Given the description of an element on the screen output the (x, y) to click on. 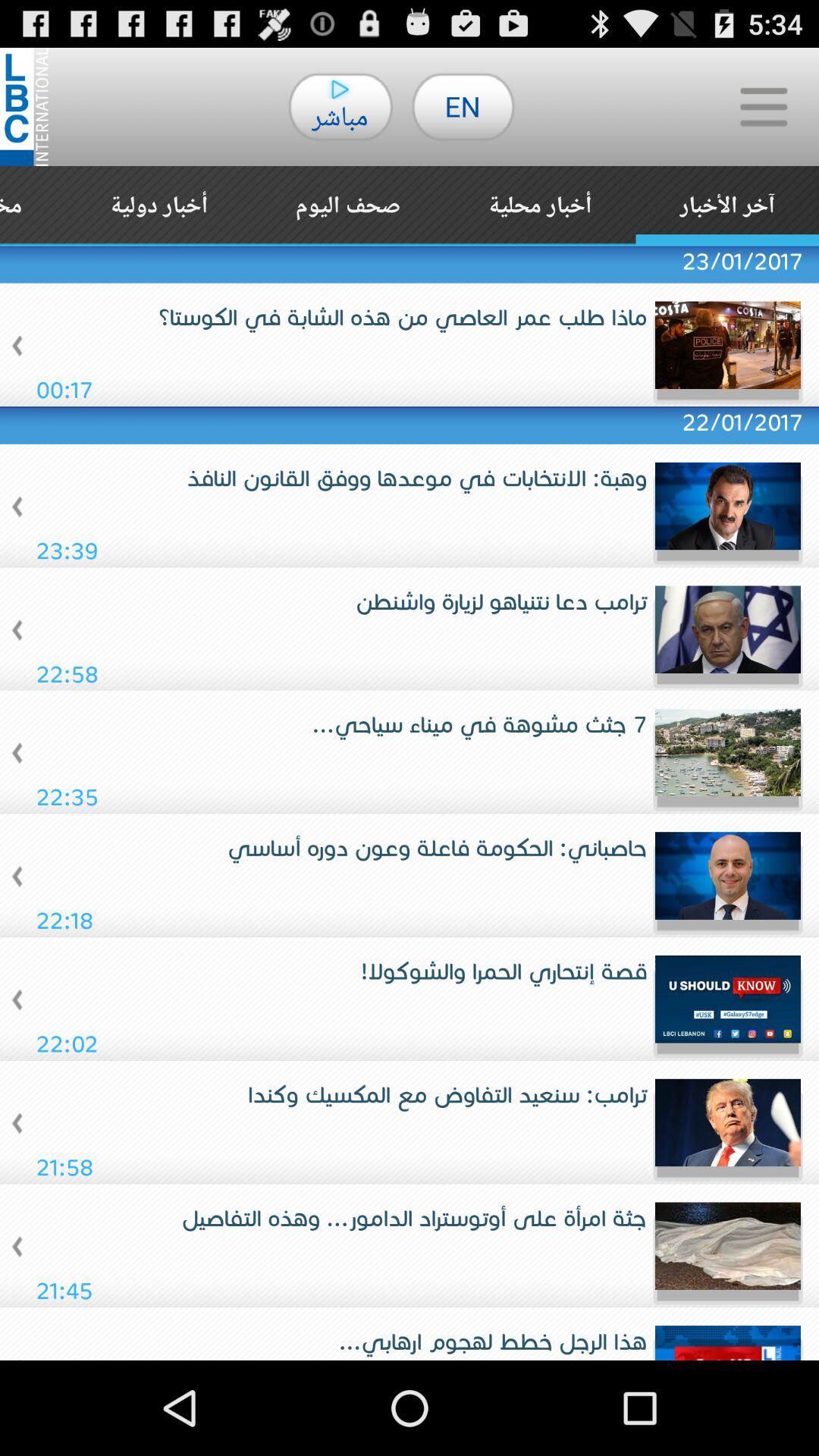
click the app above 23/01/2017 (347, 206)
